Given the description of an element on the screen output the (x, y) to click on. 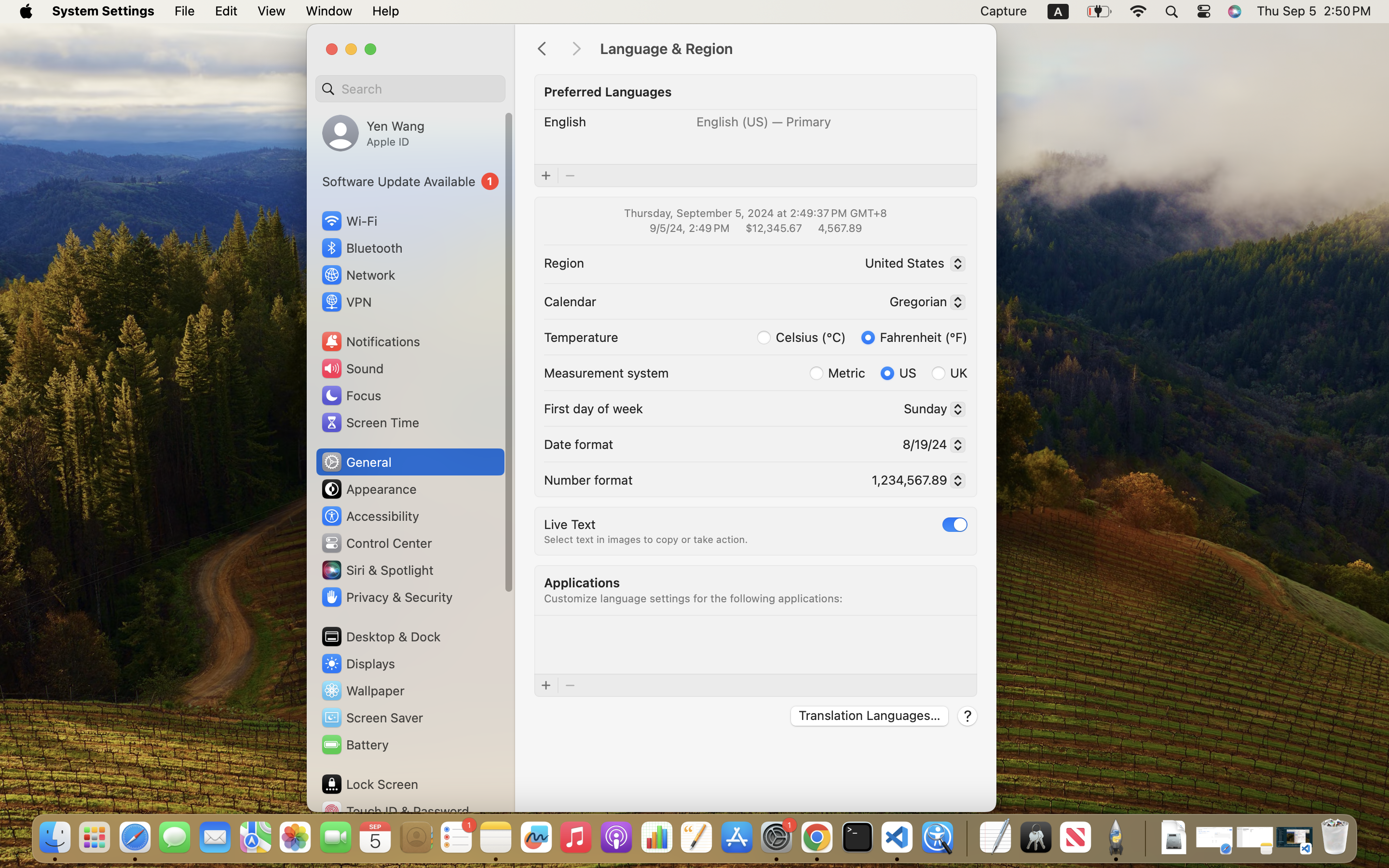
Region Element type: AXStaticText (564, 262)
Wi‑Fi Element type: AXStaticText (348, 220)
Measurement system Element type: AXStaticText (606, 371)
Wallpaper Element type: AXStaticText (362, 690)
Sound Element type: AXStaticText (351, 367)
